Given the description of an element on the screen output the (x, y) to click on. 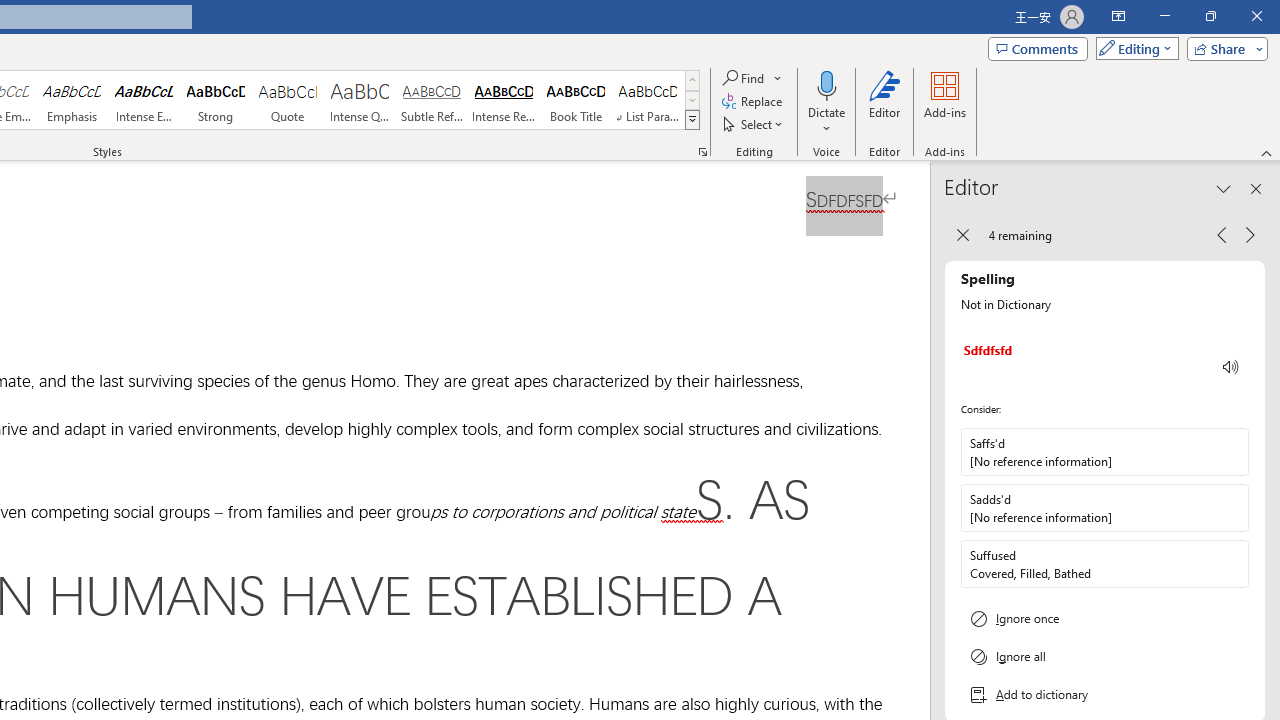
Editor (885, 102)
AutomationID: DrillInPane_ReadContext (1231, 367)
Add to dictionary (1105, 695)
Styles... (702, 151)
Ignore all (1105, 656)
Quote (287, 100)
Select (754, 124)
Previous Issue, 4 remaining (1221, 234)
Intense Reference (504, 100)
More options for Saffs'd (1232, 452)
